Given the description of an element on the screen output the (x, y) to click on. 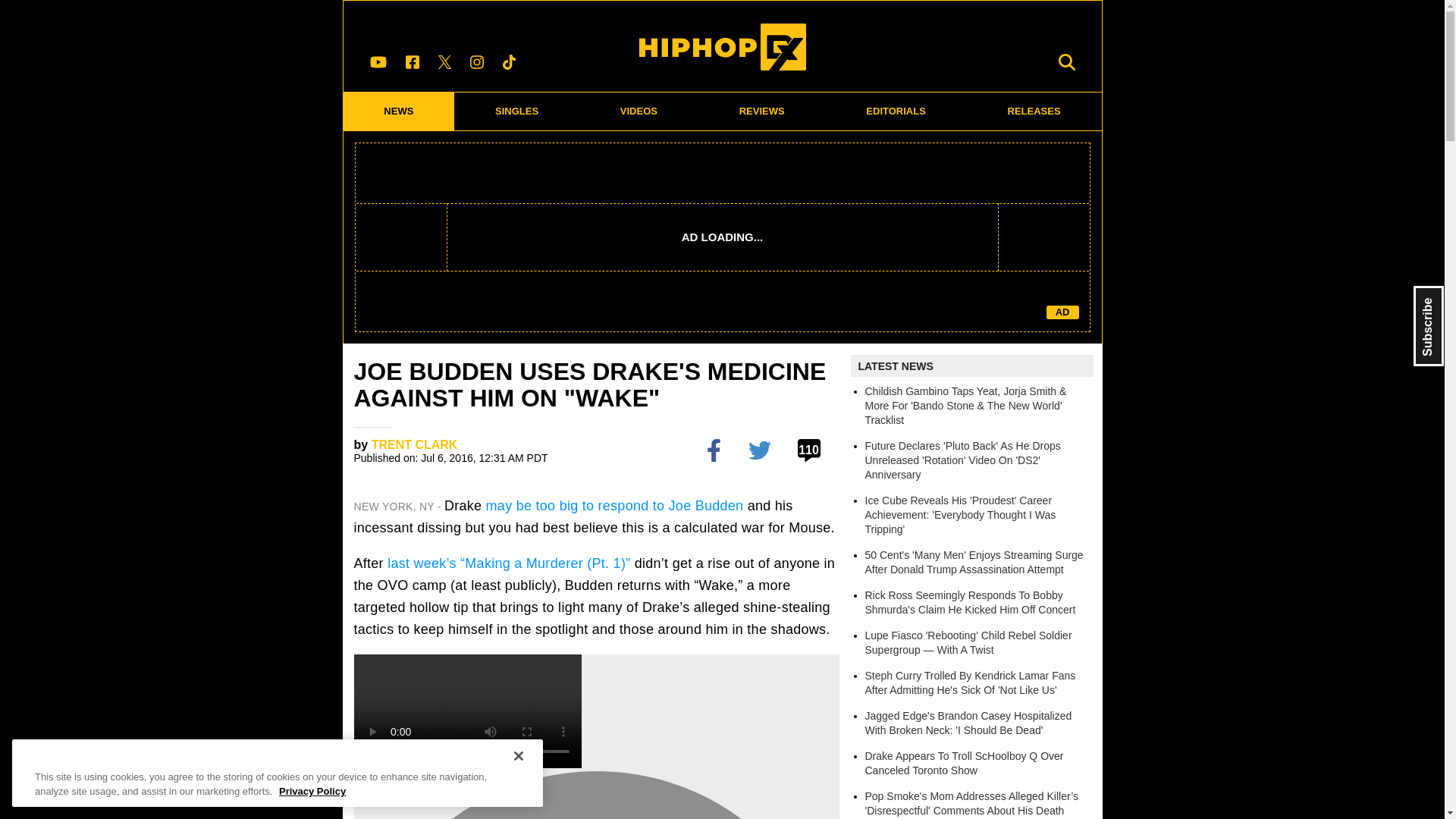
EDITORIALS (895, 111)
NEWS (398, 111)
SINGLES (516, 111)
RELEASES (1034, 111)
REVIEWS (761, 111)
may be too big to respond to Joe Budden (615, 505)
TRENT CLARK (414, 444)
VIDEOS (638, 111)
110 (810, 449)
